Given the description of an element on the screen output the (x, y) to click on. 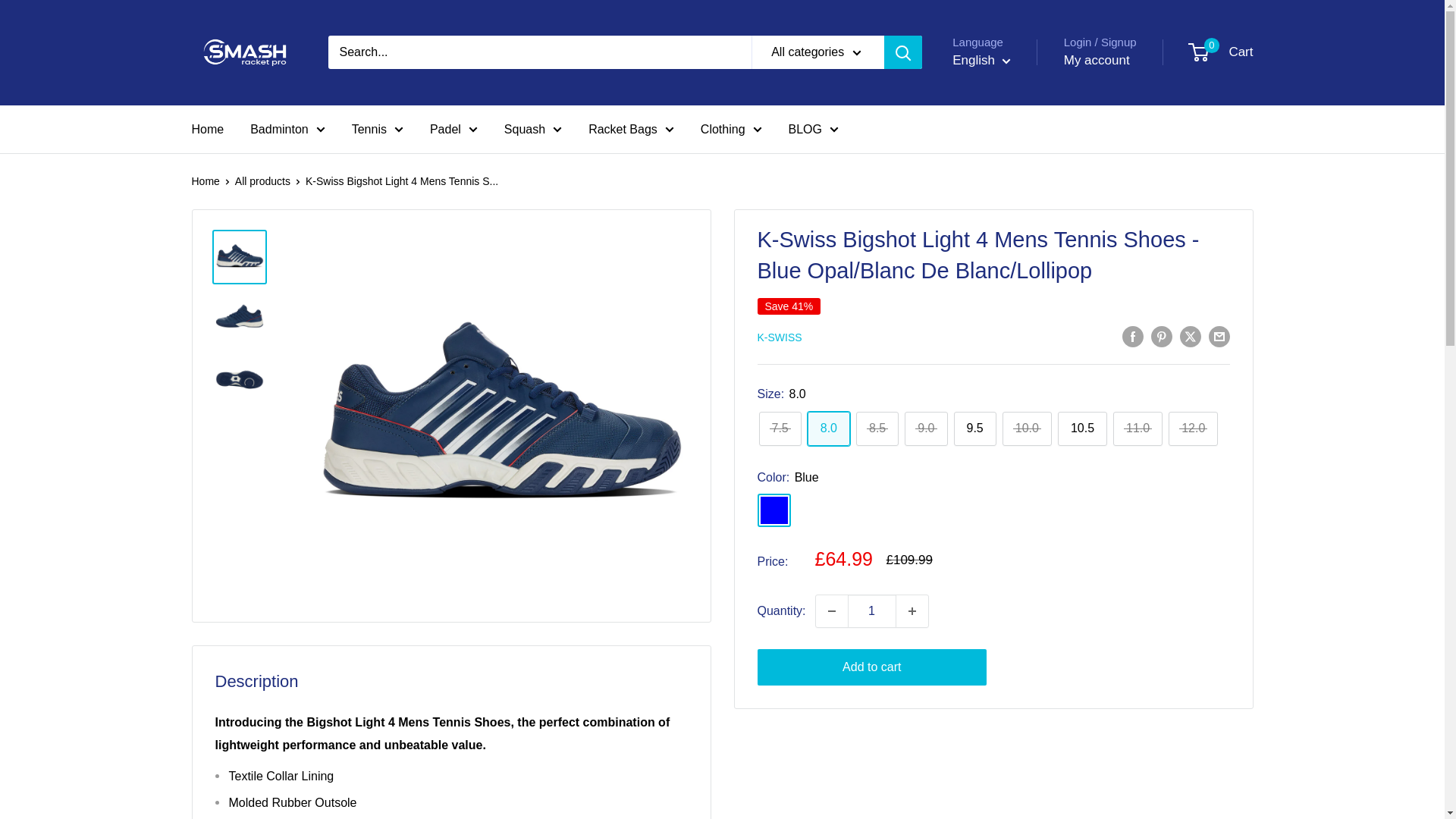
7.5 (779, 428)
9.5 (974, 428)
11.0 (1137, 428)
1 (871, 611)
8.0 (829, 428)
12.0 (1193, 428)
Increase quantity by 1 (912, 611)
10.0 (1027, 428)
Decrease quantity by 1 (831, 611)
10.5 (1082, 428)
